Given the description of an element on the screen output the (x, y) to click on. 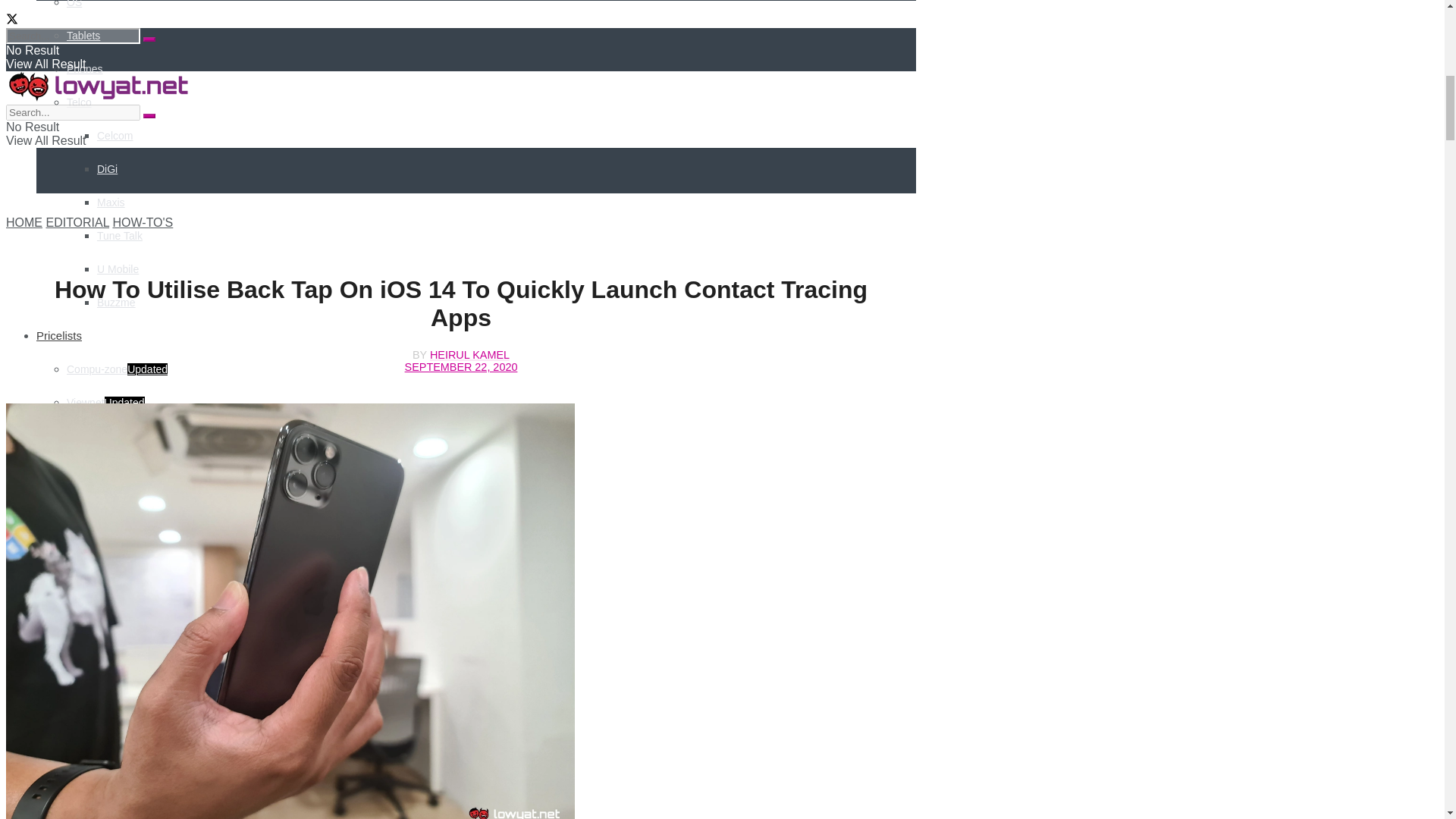
Maxis (111, 202)
Phones (83, 69)
OS (73, 4)
Celcom (114, 135)
Tablets (83, 35)
DiGi (107, 168)
Tune Talk (119, 235)
Telco (78, 102)
